Given the description of an element on the screen output the (x, y) to click on. 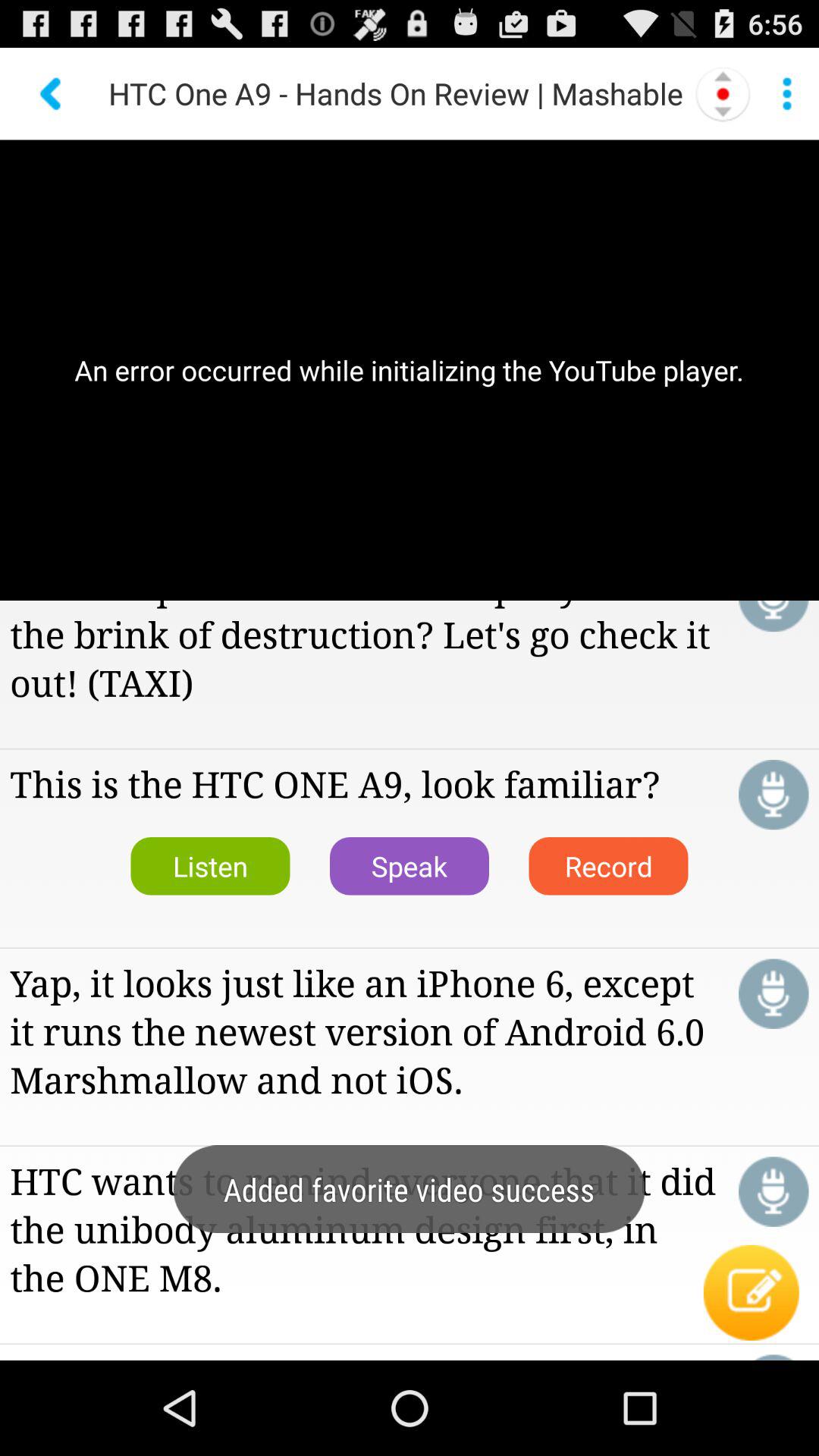
recording option (723, 93)
